Given the description of an element on the screen output the (x, y) to click on. 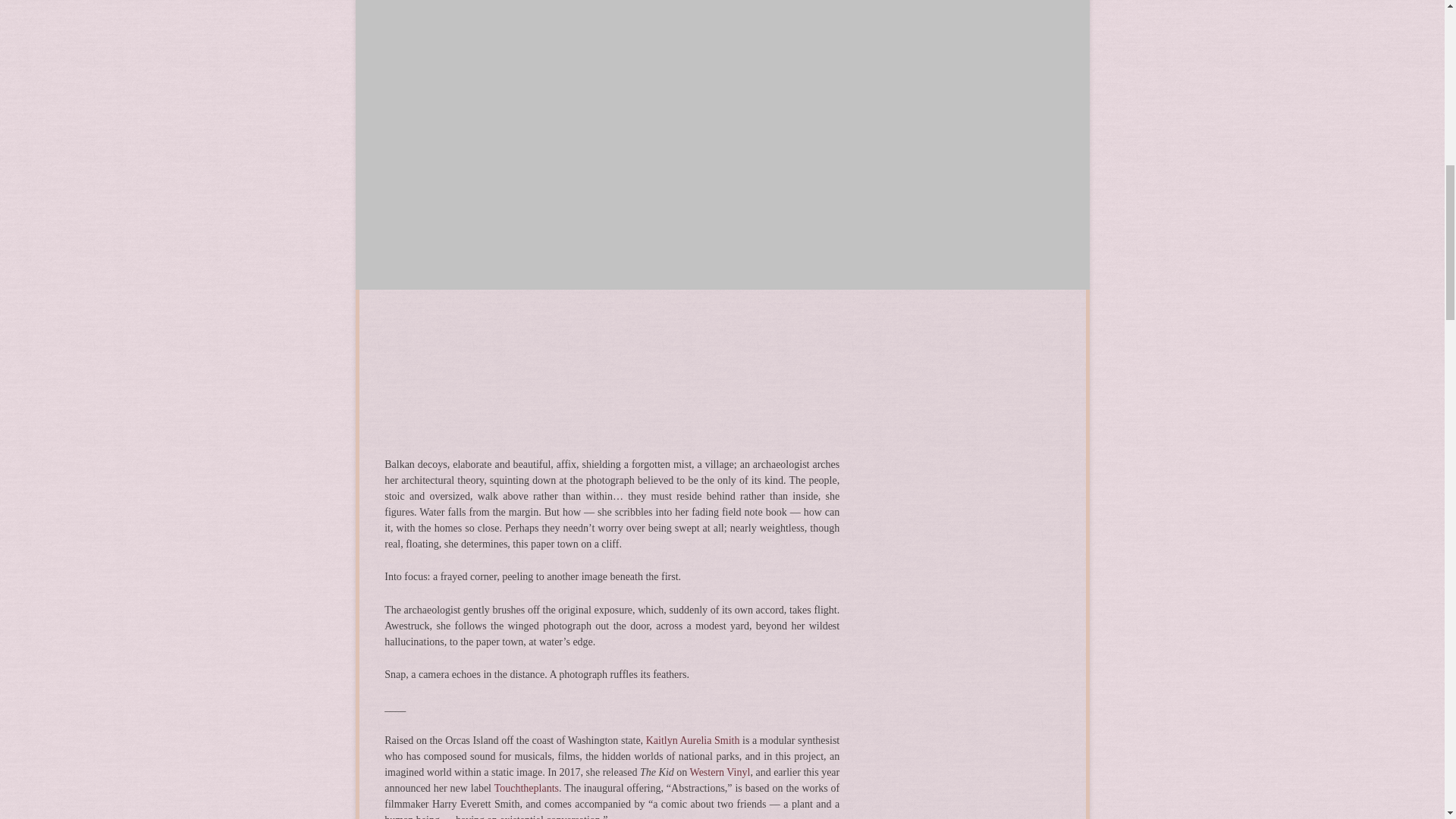
Kaitlyn Aurelia Smith (692, 740)
Touchtheplants (527, 787)
Western Vinyl (720, 772)
